Given the description of an element on the screen output the (x, y) to click on. 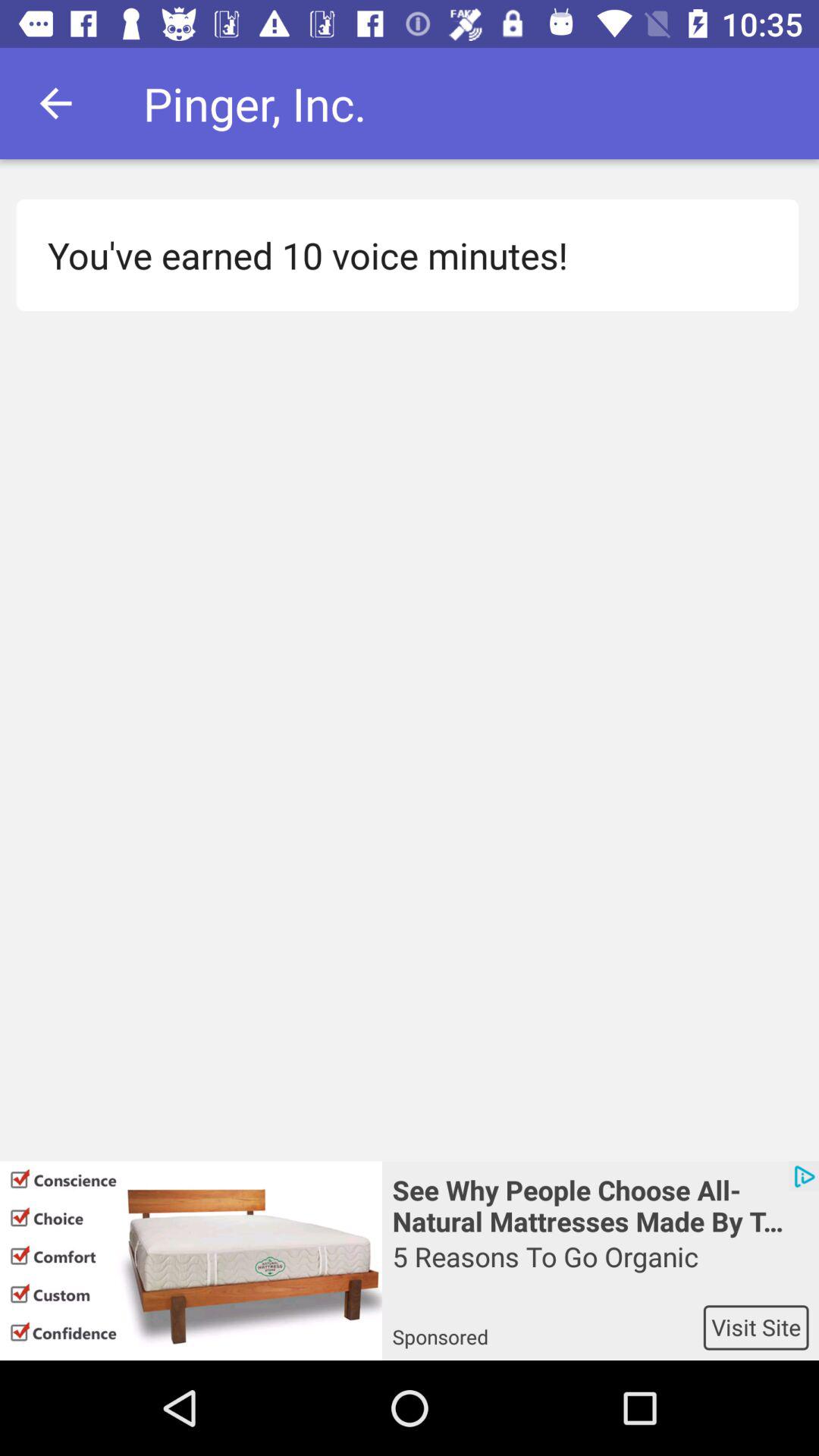
choose app above 5 reasons to icon (600, 1204)
